Given the description of an element on the screen output the (x, y) to click on. 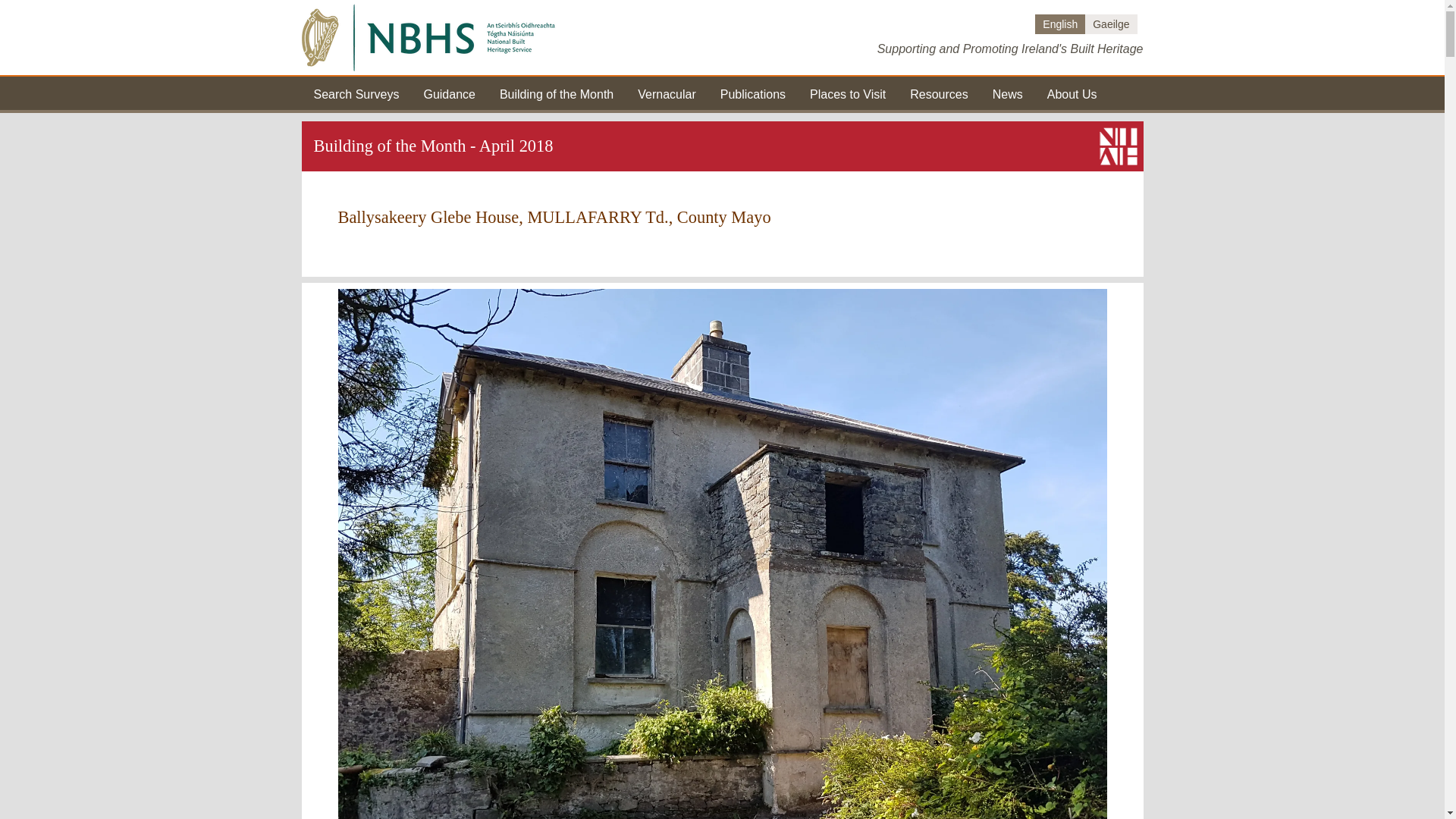
English (1059, 24)
About Us (1071, 92)
Vernacular (666, 92)
Publications (753, 92)
Search Surveys (356, 92)
Resources (939, 92)
Building of the Month (555, 92)
Guidance (449, 92)
News (1007, 92)
Places to Visit (847, 92)
